Given the description of an element on the screen output the (x, y) to click on. 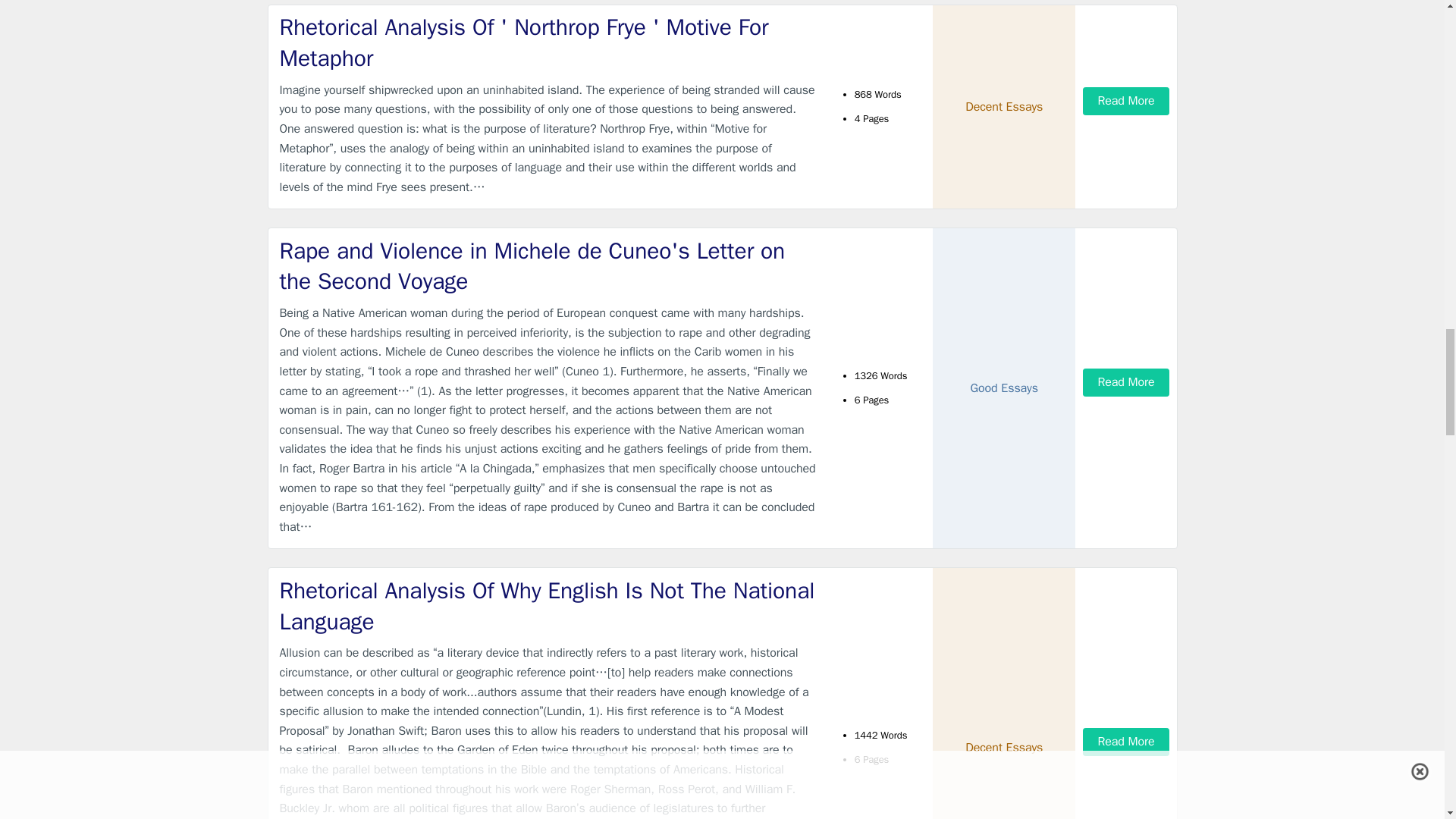
Read More (1126, 100)
Rhetorical Analysis Of ' Northrop Frye ' Motive For Metaphor (548, 42)
Read More (1126, 382)
Read More (1126, 741)
